Given the description of an element on the screen output the (x, y) to click on. 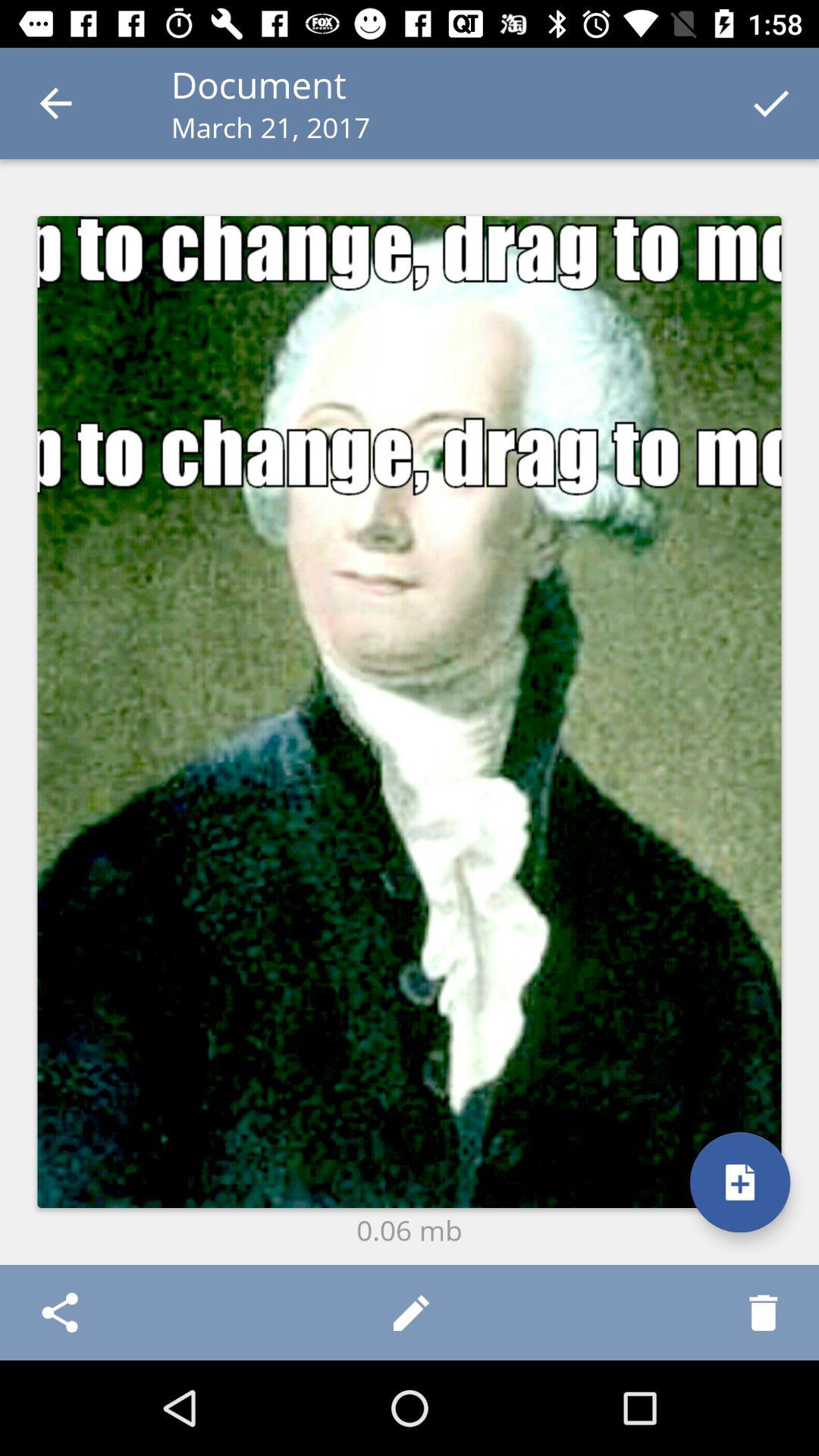
tap icon to the left of the document item (55, 103)
